Given the description of an element on the screen output the (x, y) to click on. 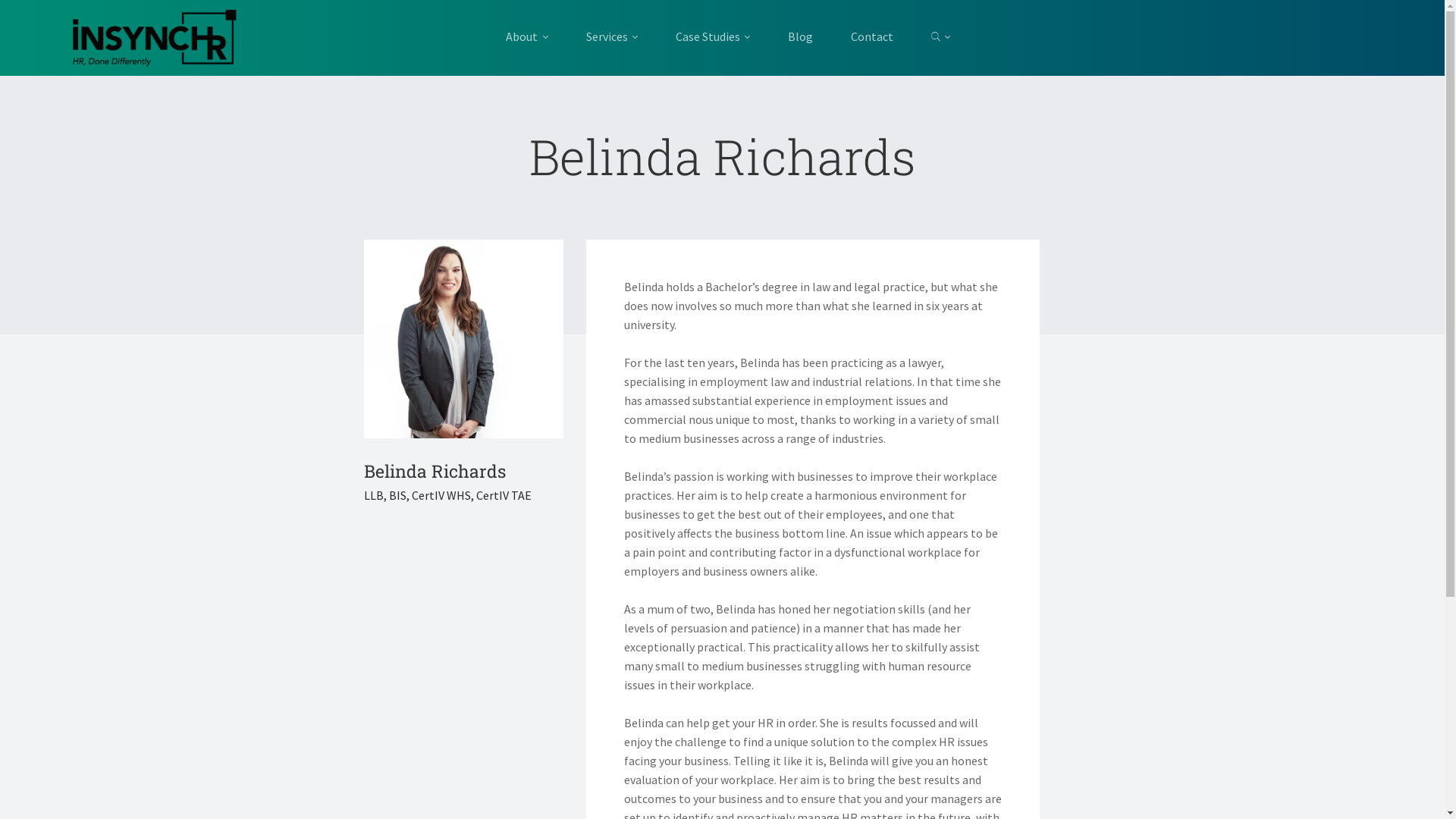
Contact Element type: text (871, 36)
About Element type: text (535, 36)
Case Studies Element type: text (712, 36)
Services Element type: text (611, 36)
Blog Element type: text (799, 36)
